Given the description of an element on the screen output the (x, y) to click on. 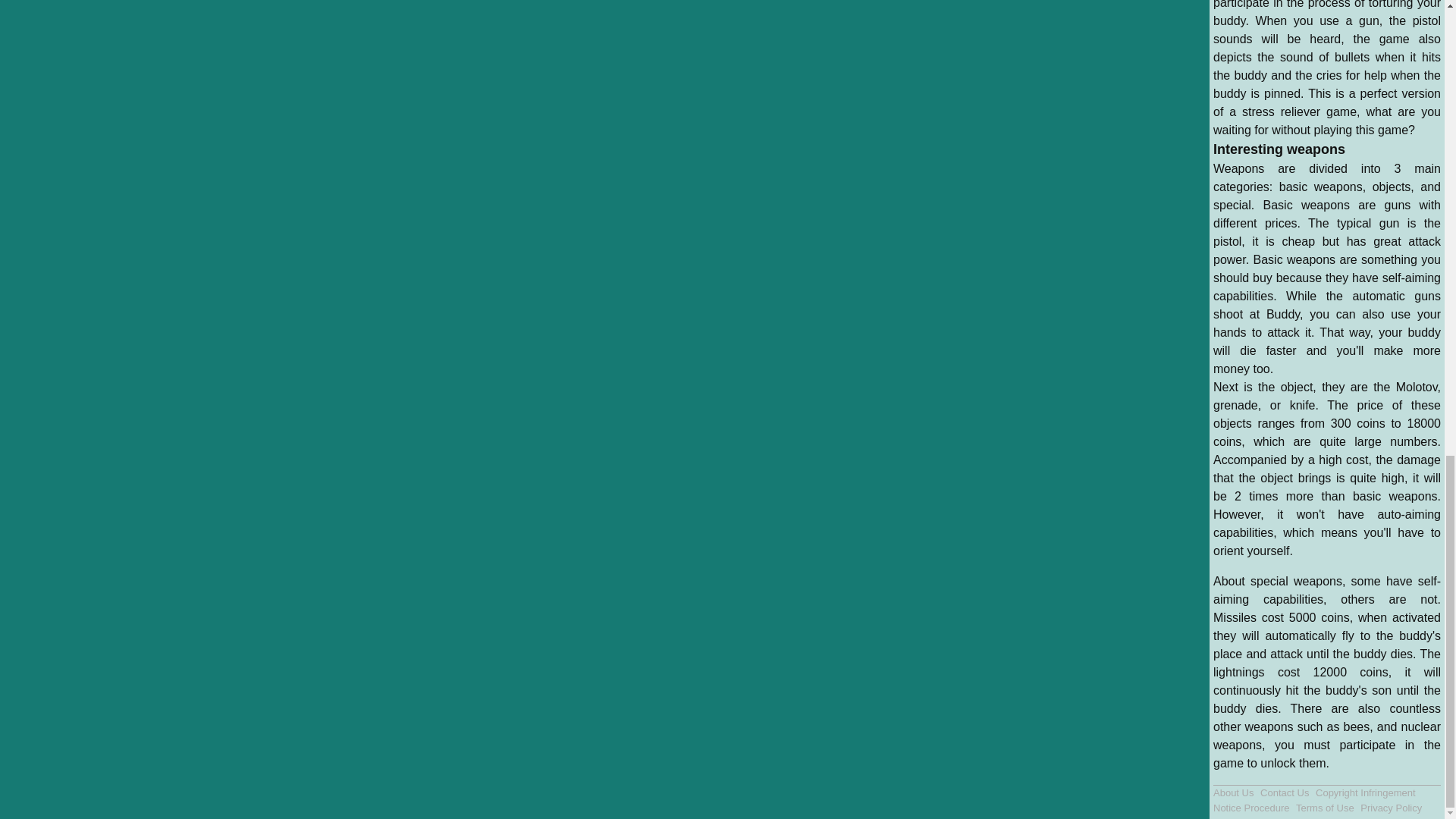
Contact Us (1285, 792)
Privacy Policy (1390, 808)
Terms of Use (1325, 808)
About Us (1234, 792)
Copyright Infringement Notice Procedure (1313, 800)
